Given the description of an element on the screen output the (x, y) to click on. 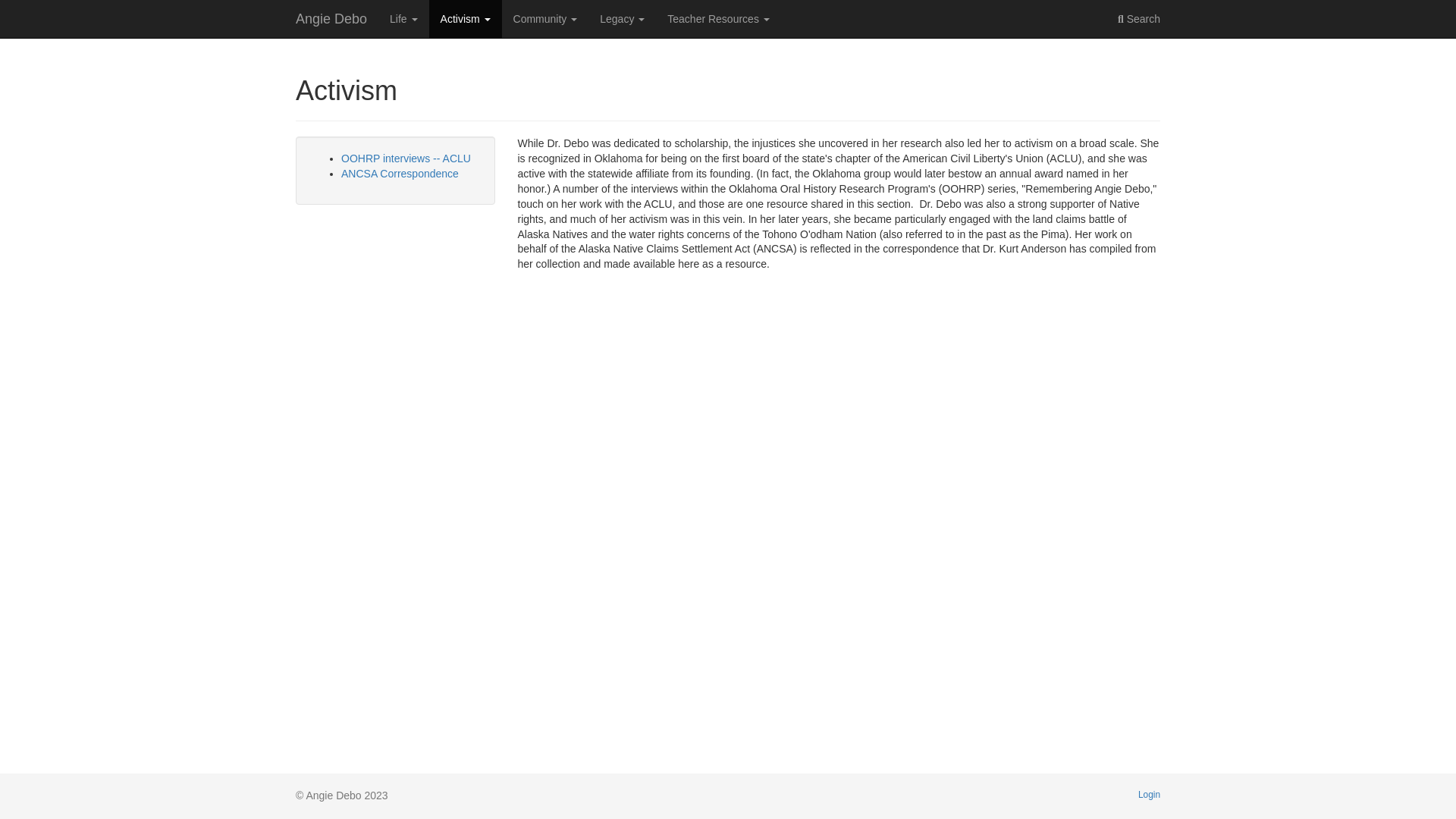
Life (403, 18)
Community (545, 18)
Legacy (622, 18)
Activism (465, 18)
OOHRP interviews -- ACLU (405, 158)
OOHRP interviews -- ACLU (405, 158)
Angie Debo (330, 18)
Teacher Resources (718, 18)
ANCSA Correspondence (399, 173)
Teacher Resources (718, 18)
